Given the description of an element on the screen output the (x, y) to click on. 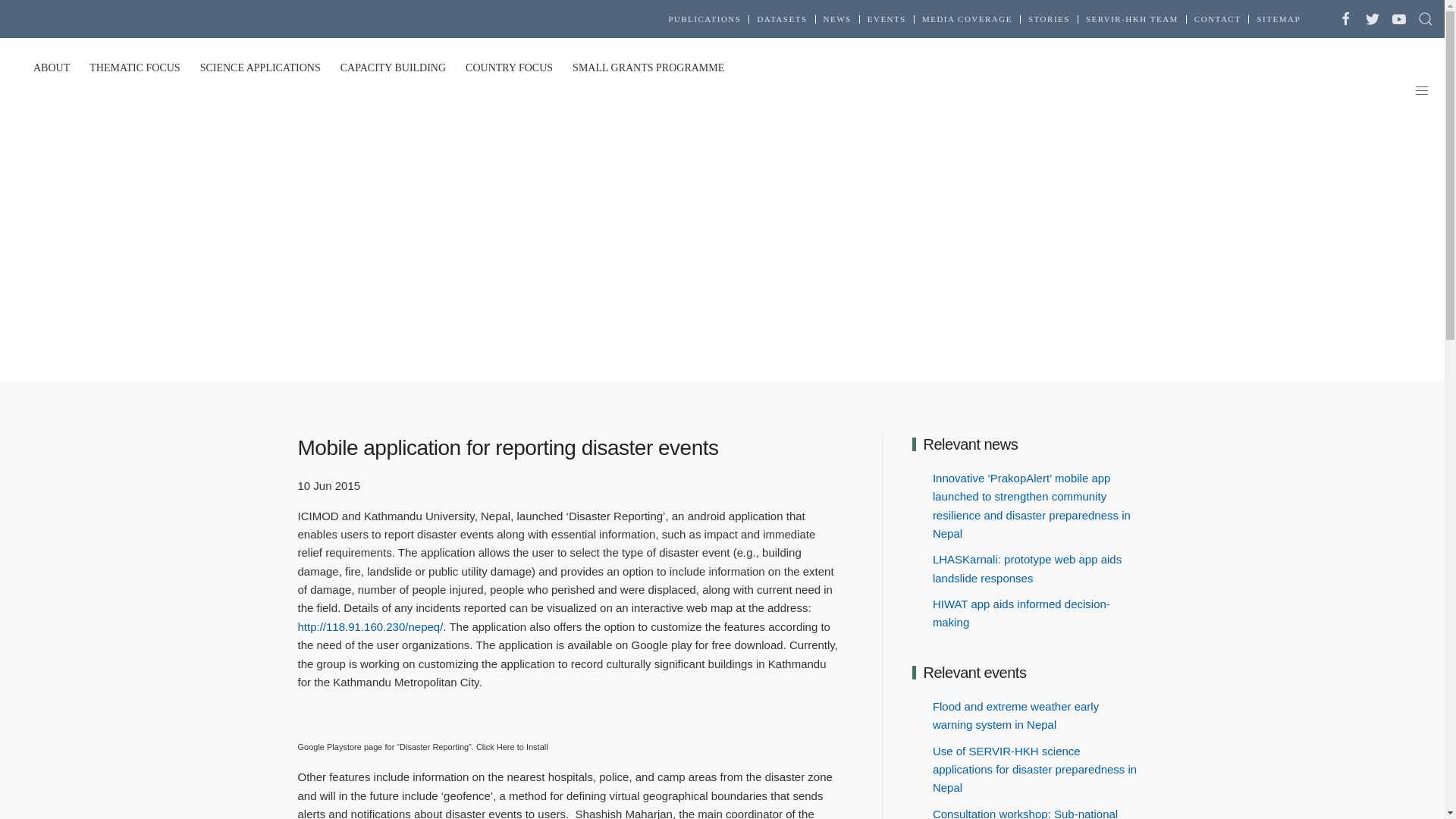
NEWS (837, 19)
CONTACT (1217, 19)
Publications (704, 19)
MEDIA COVERAGE (966, 19)
Stories (1048, 19)
Sitemap (1278, 19)
Thematic focus (134, 67)
Events (886, 19)
Contact (1217, 19)
THEMATIC FOCUS (134, 67)
SERVIR-HKH team (1131, 19)
STORIES (1048, 19)
EVENTS (886, 19)
ABOUT (51, 67)
COUNTRY FOCUS (508, 67)
